Given the description of an element on the screen output the (x, y) to click on. 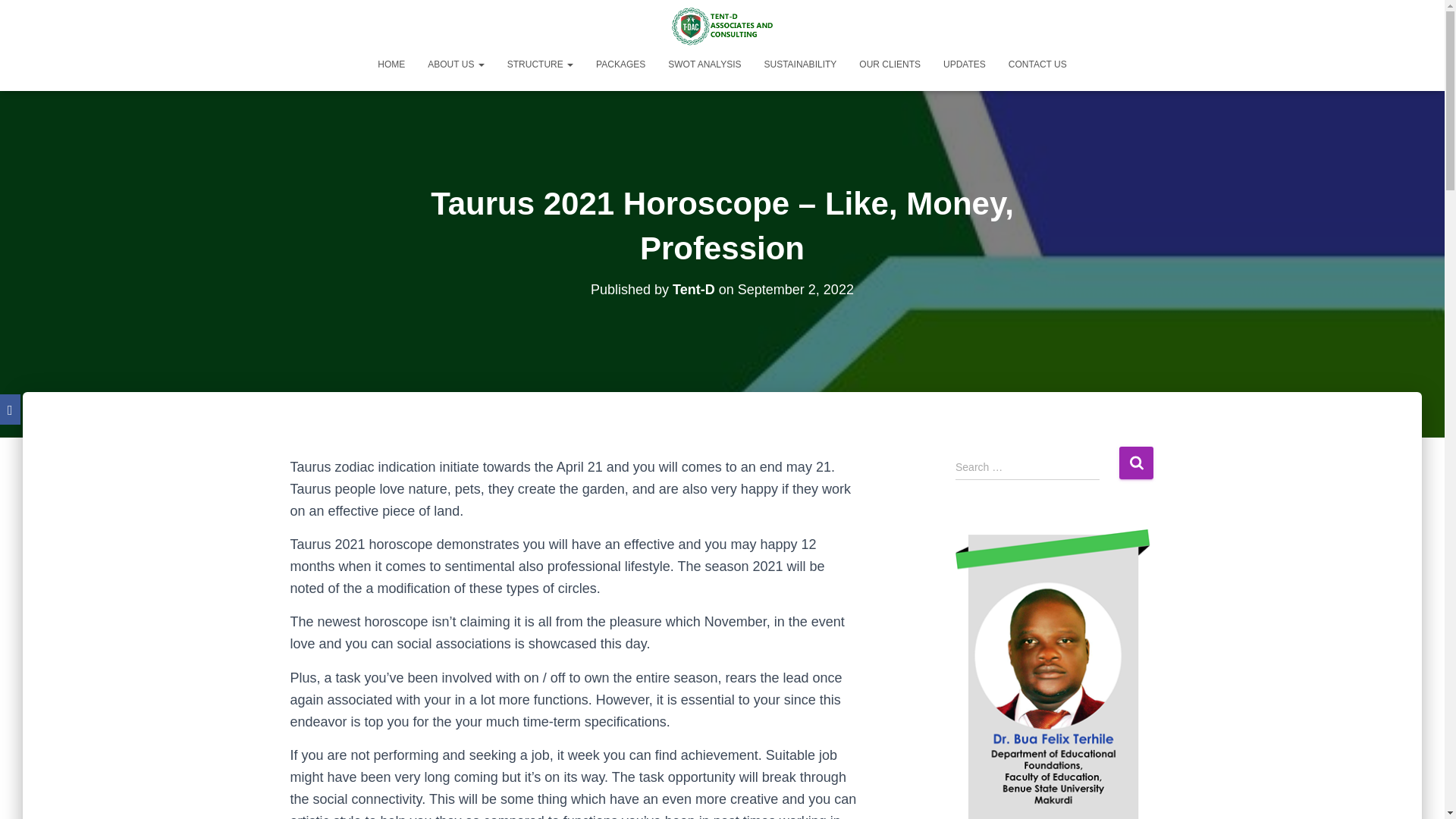
HOME (391, 64)
Tent-D Associates and Consulting (722, 26)
SWOT ANALYSIS (704, 64)
UPDATES (964, 64)
CONTACT US (1037, 64)
Search (1136, 462)
ABOUT US (455, 64)
HOME (391, 64)
Tent-D (693, 289)
PACKAGES (620, 64)
